Given the description of an element on the screen output the (x, y) to click on. 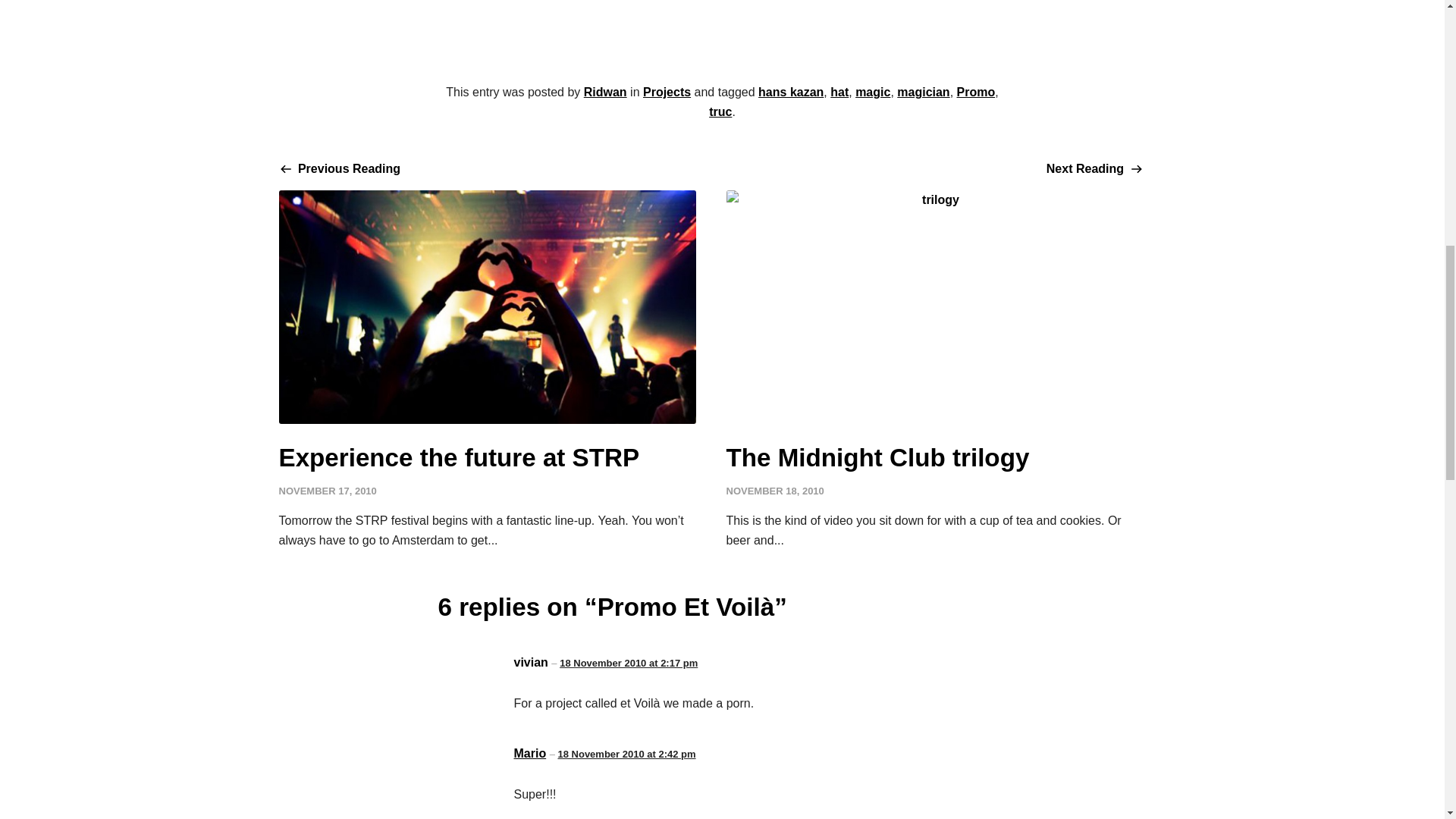
truc (720, 111)
hat (838, 91)
magic (872, 91)
18 November 2010 at 2:17 pm (628, 663)
Projects (666, 91)
magician (922, 91)
Promo (975, 91)
Mario (530, 753)
Ridwan (605, 91)
